Given the description of an element on the screen output the (x, y) to click on. 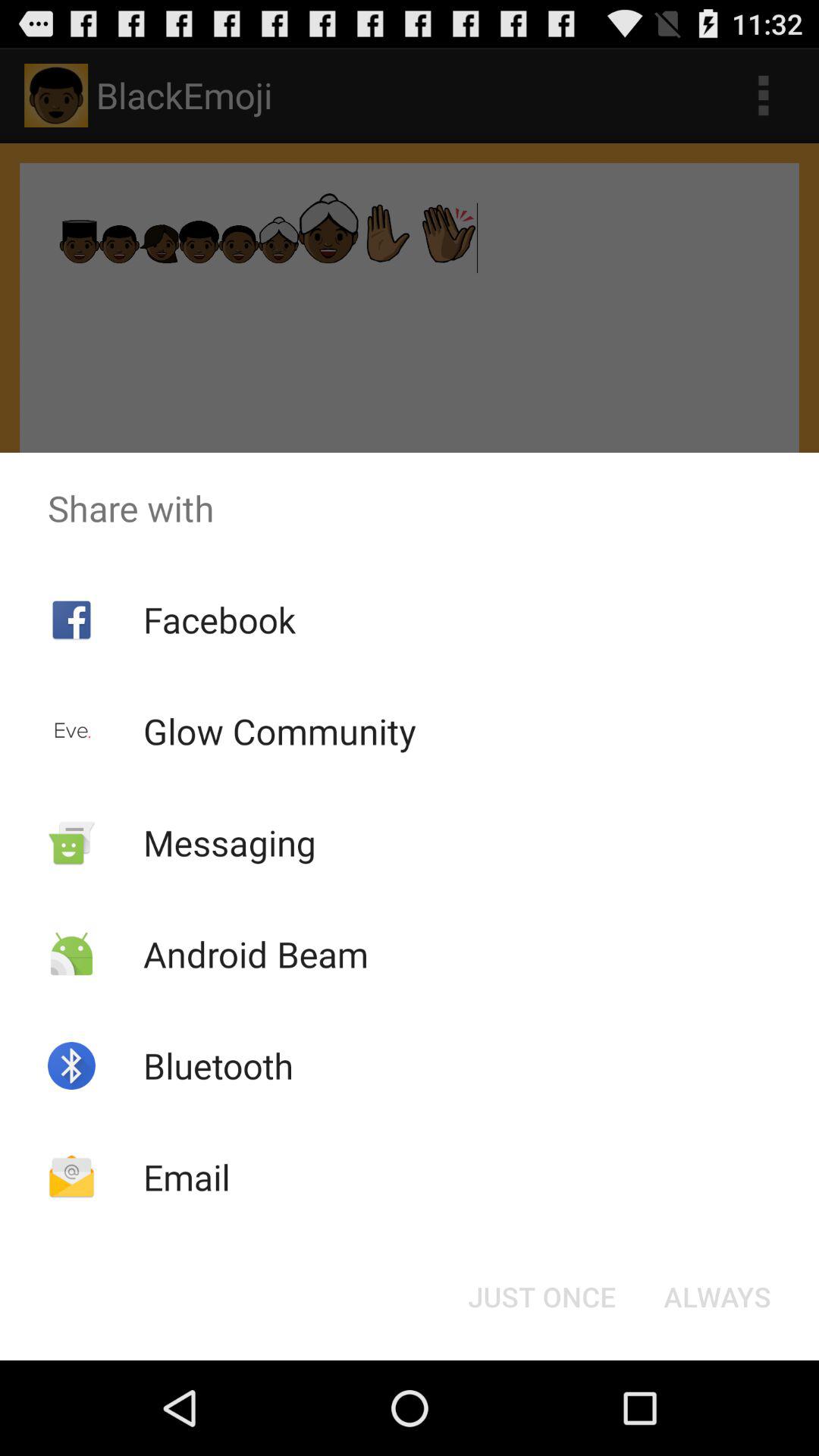
click the facebook icon (219, 619)
